Given the description of an element on the screen output the (x, y) to click on. 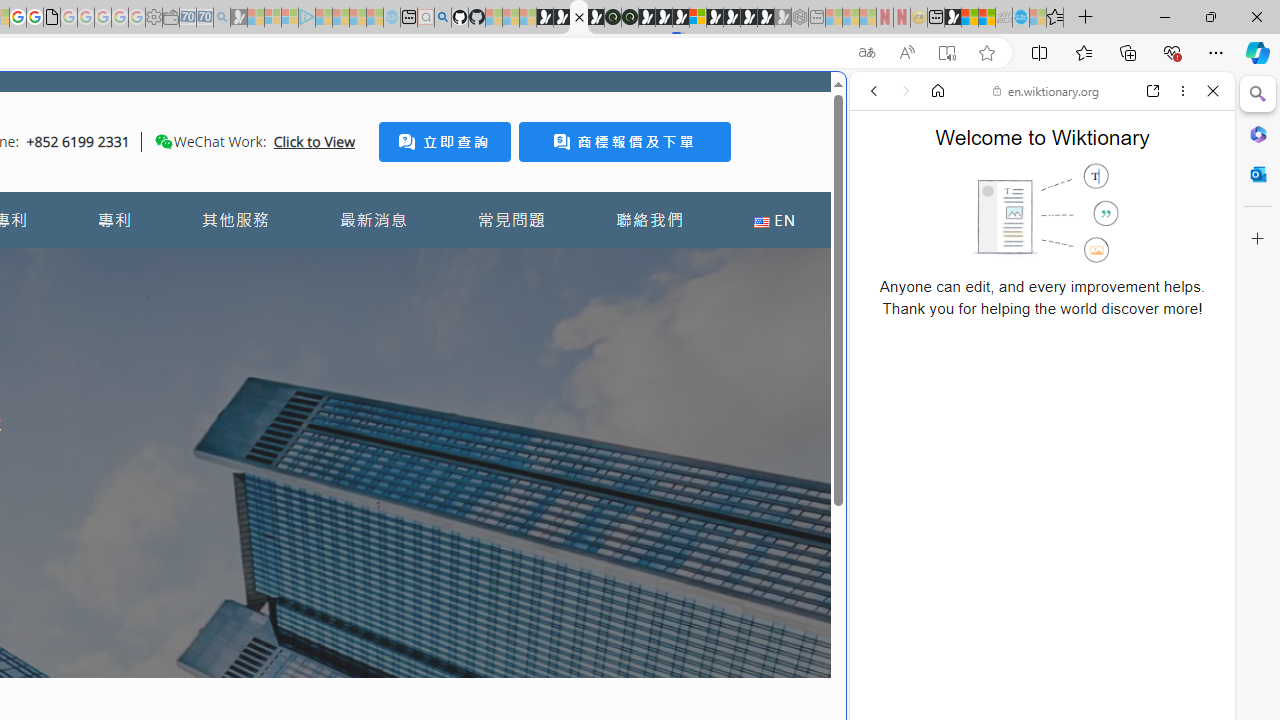
en.wiktionary.org (1046, 90)
Search Filter, Search Tools (1093, 228)
EN (774, 220)
EN (774, 220)
Preferences (1189, 228)
Search or enter web address (343, 191)
